Given the description of an element on the screen output the (x, y) to click on. 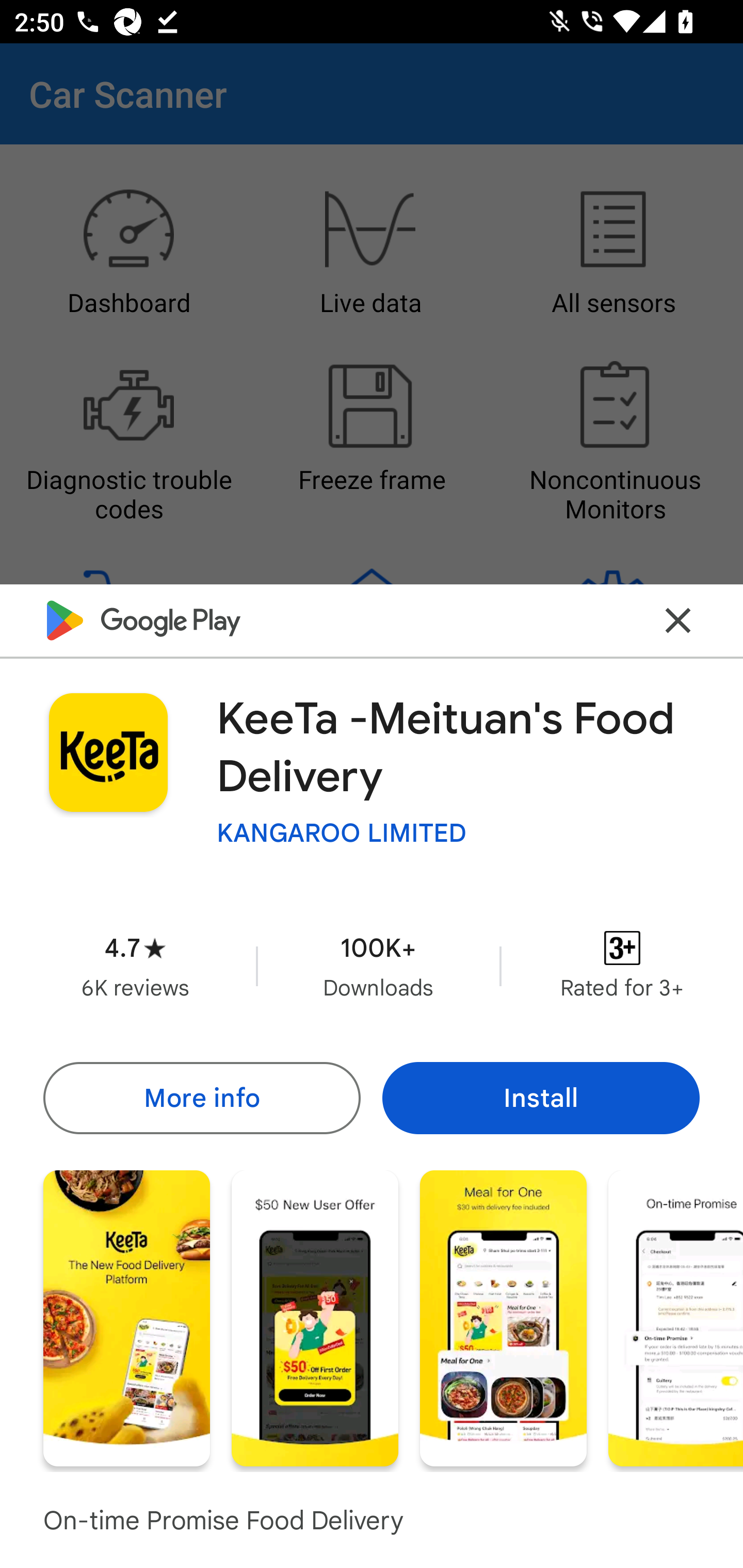
Close (677, 620)
KANGAROO LIMITED (341, 832)
More info (201, 1097)
Install (540, 1097)
Screenshot "1" of "6" (126, 1317)
Screenshot "2" of "6" (314, 1317)
Screenshot "3" of "6" (502, 1317)
Screenshot "4" of "6" (675, 1317)
